Given the description of an element on the screen output the (x, y) to click on. 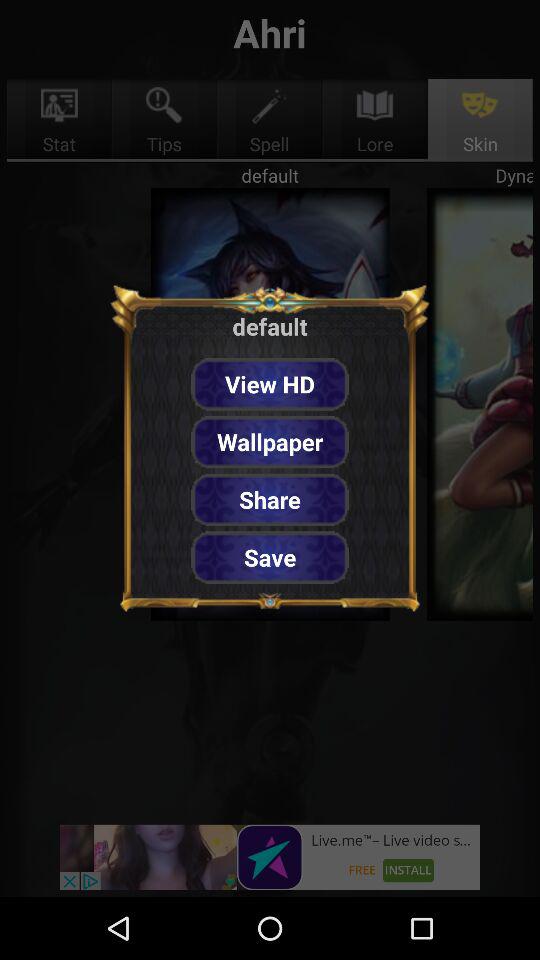
click view hd item (269, 384)
